Given the description of an element on the screen output the (x, y) to click on. 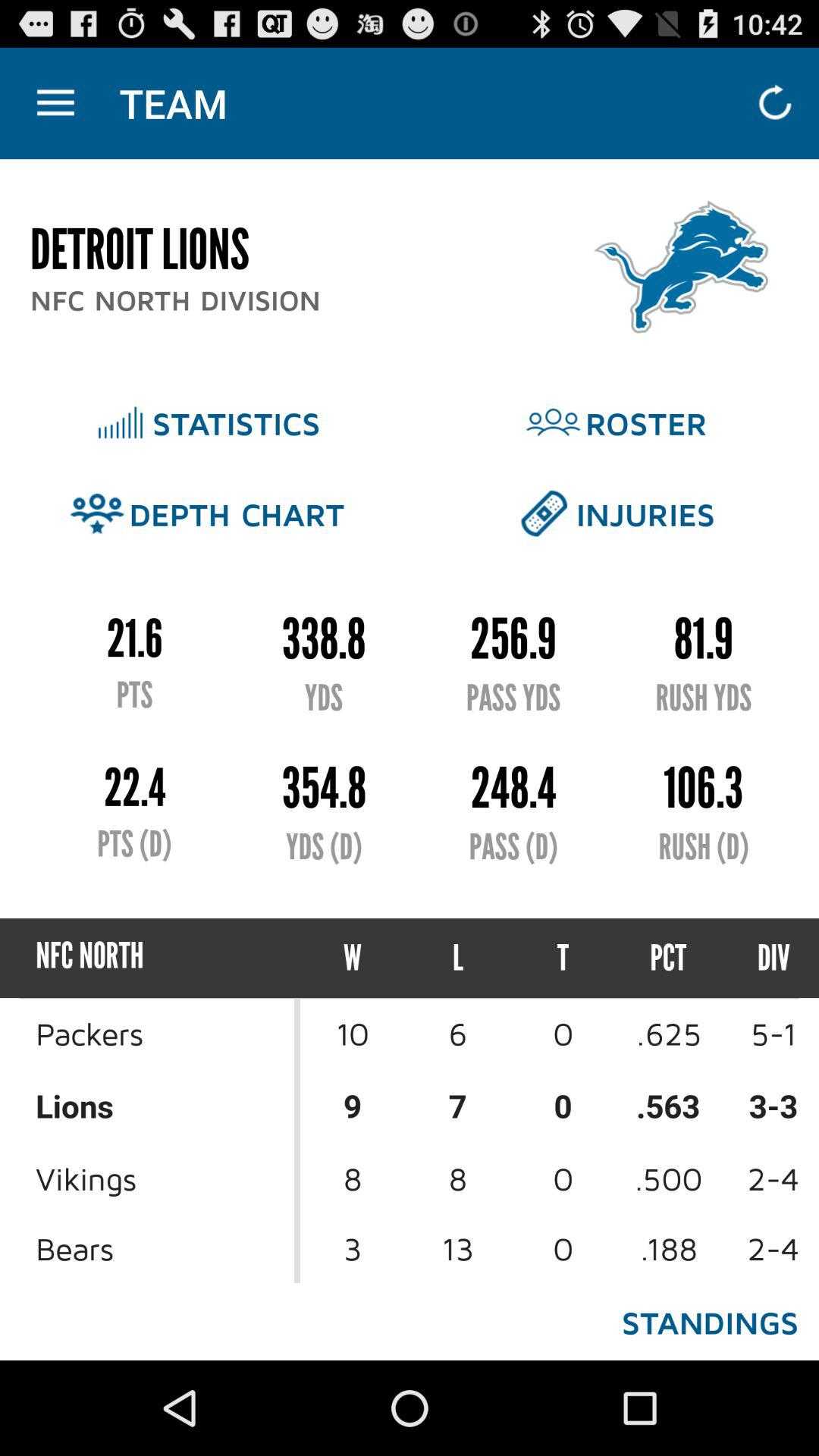
press icon to the left of the t item (457, 958)
